Given the description of an element on the screen output the (x, y) to click on. 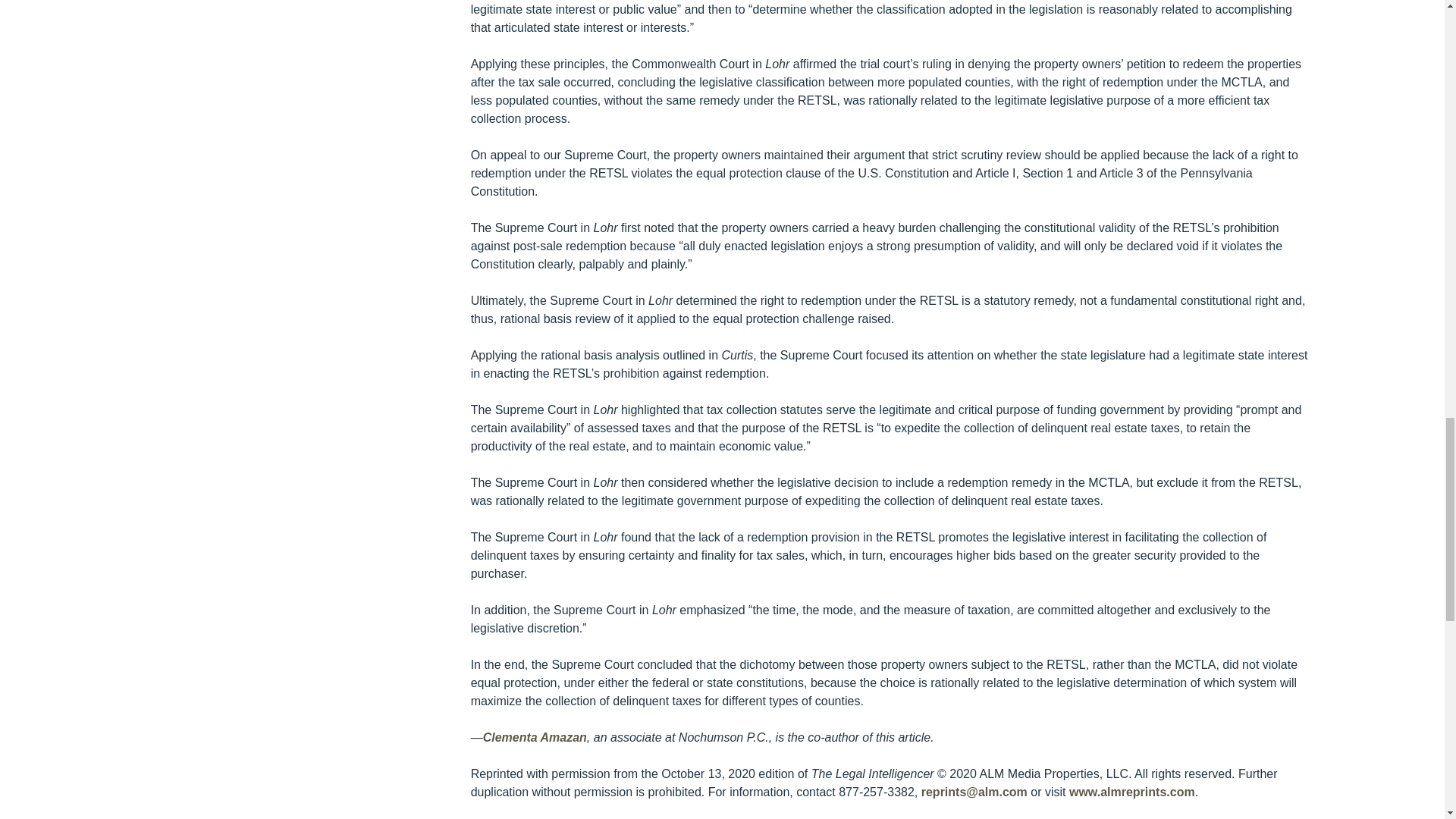
www.almreprints.com (1131, 791)
Clementa Amazan (534, 737)
